Given the description of an element on the screen output the (x, y) to click on. 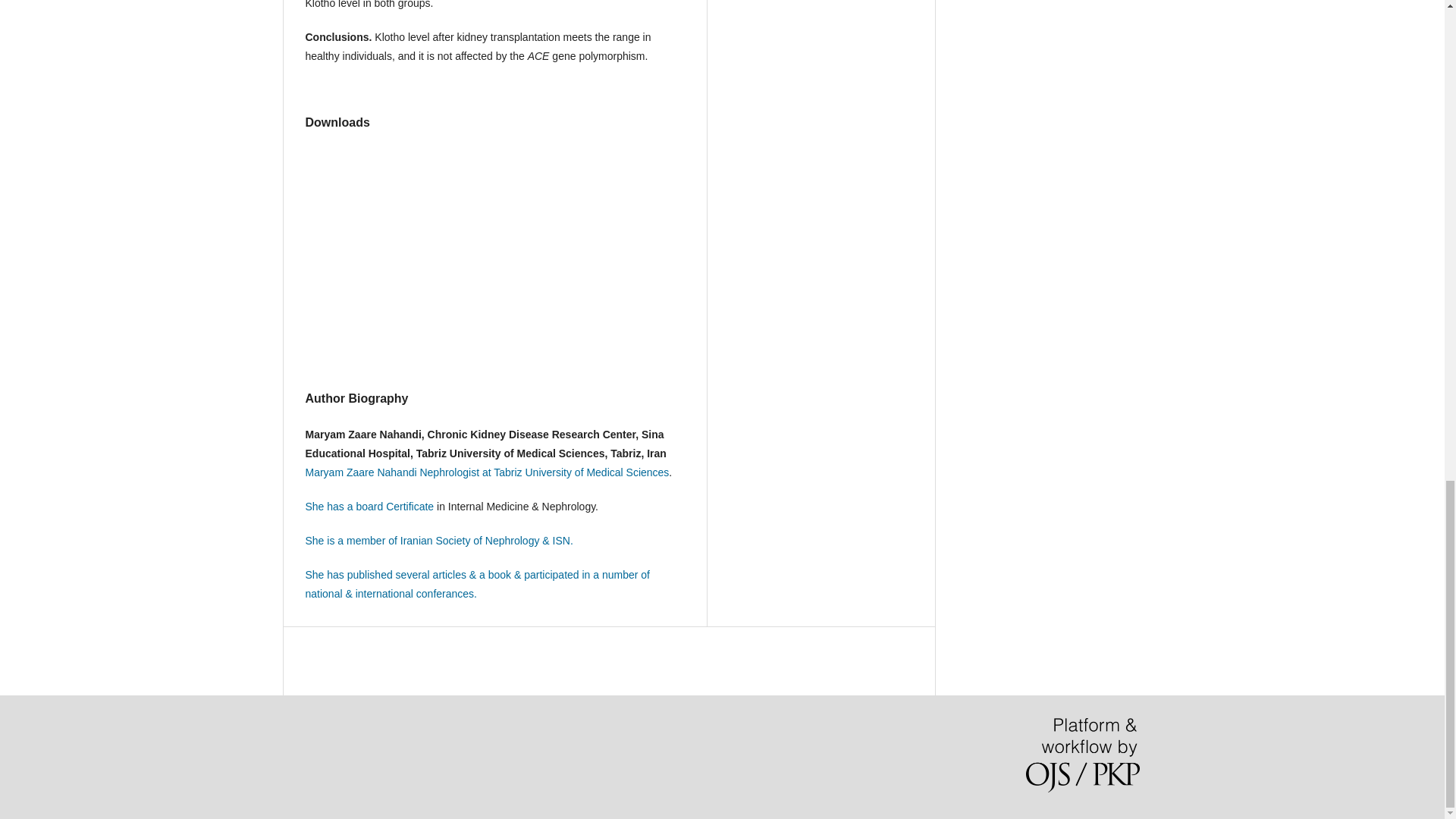
board Certificate (395, 506)
Tabriz (508, 472)
She has a (329, 506)
University of Medical Sciences (596, 472)
at (487, 472)
Maryam Zaare Nahandi Nephrologist (392, 472)
